Given the description of an element on the screen output the (x, y) to click on. 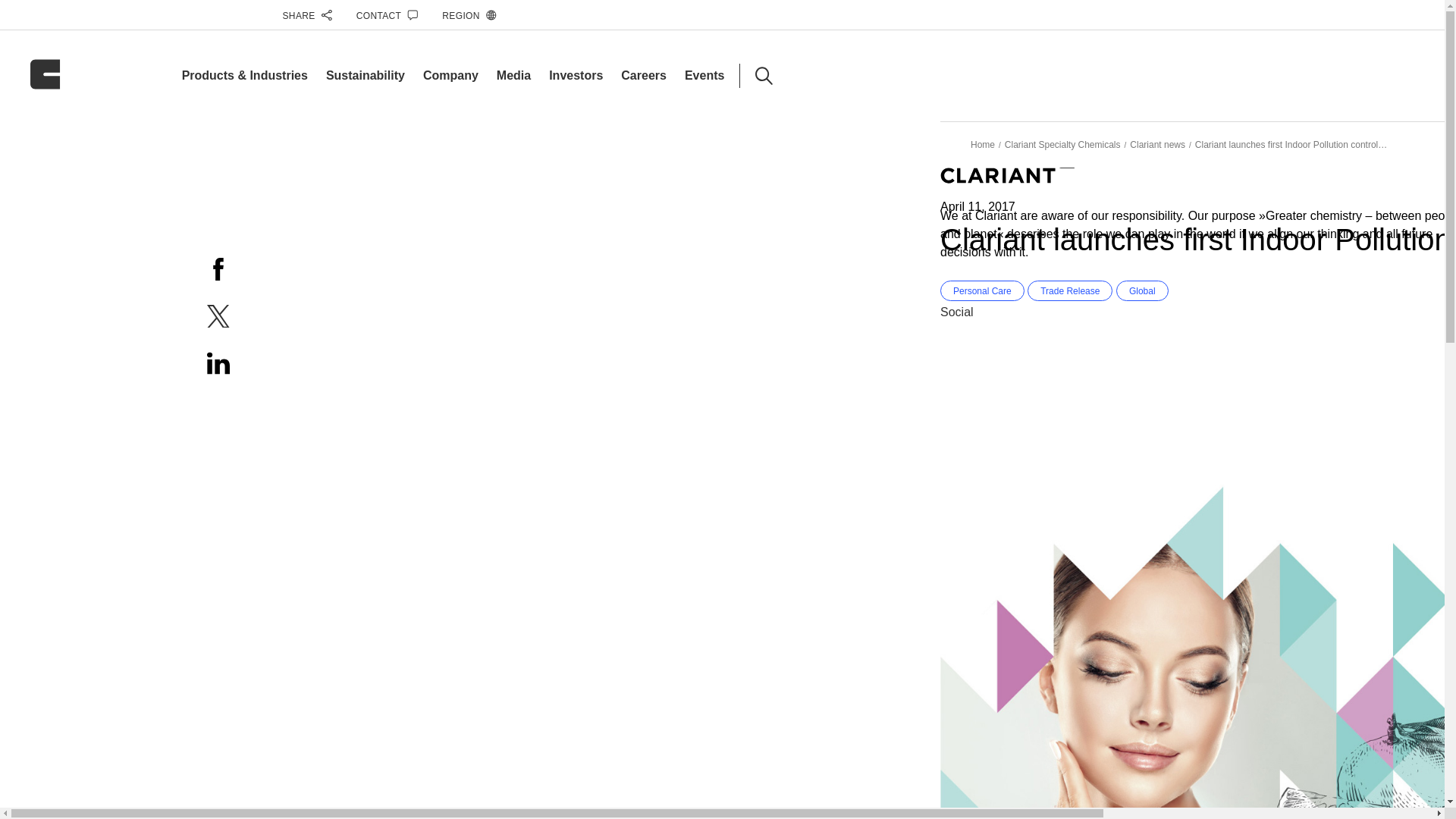
Investors (575, 74)
SHARE (306, 14)
Clariant news (1157, 144)
REGION (469, 14)
Media (513, 74)
Company (451, 74)
Investors (575, 74)
Careers (643, 74)
Events (703, 74)
Company (451, 74)
